Given the description of an element on the screen output the (x, y) to click on. 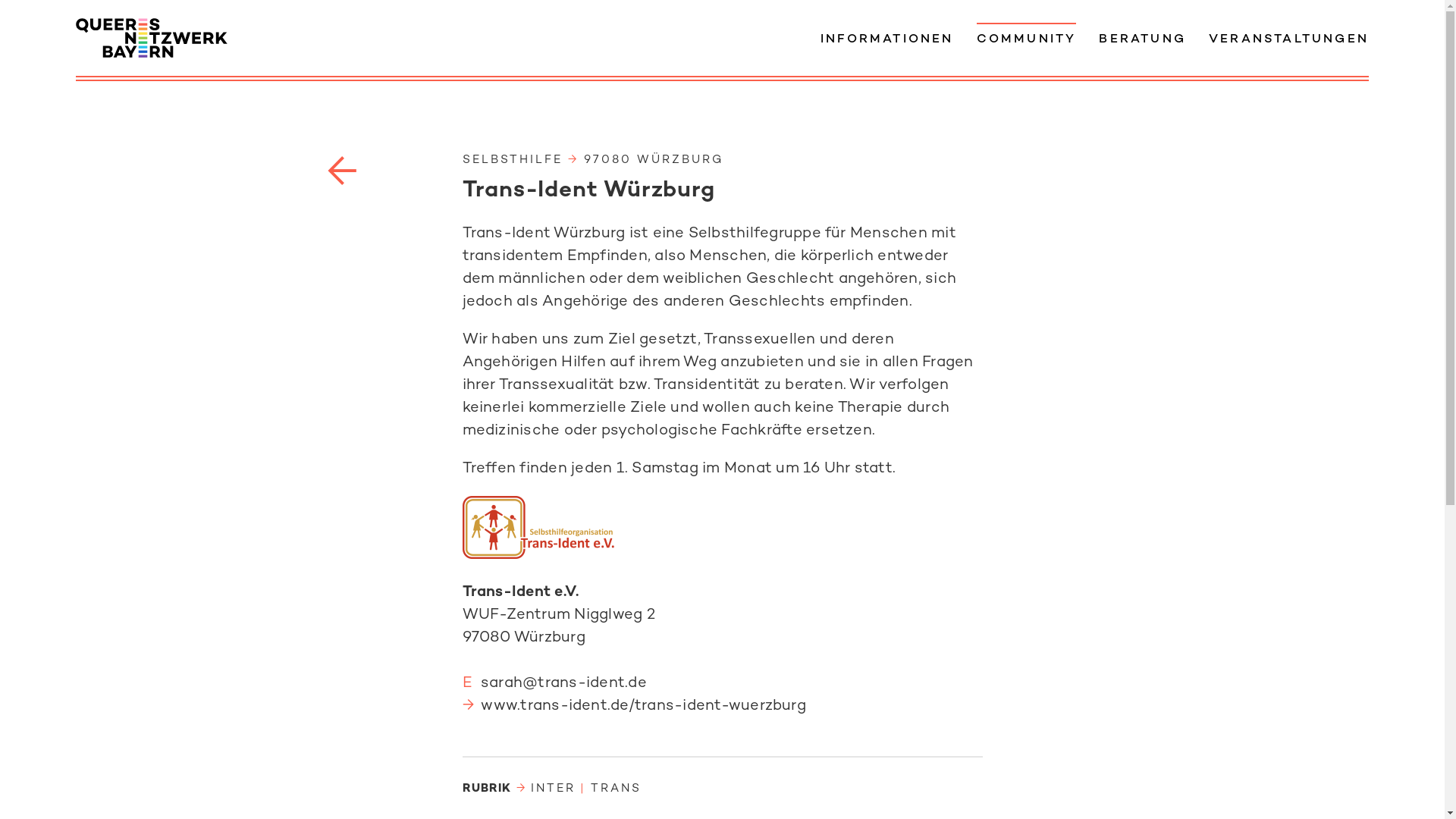
COMMUNITY Element type: text (1026, 35)
www.trans-ident.de/trans-ident-wuerzburg Element type: text (643, 706)
VERANSTALTUNGEN Element type: text (1288, 35)
INFORMATIONEN Element type: text (886, 35)
Startseite Element type: hover (151, 37)
sarah@trans-ident.de Element type: text (563, 683)
BERATUNG Element type: text (1142, 35)
